Given the description of an element on the screen output the (x, y) to click on. 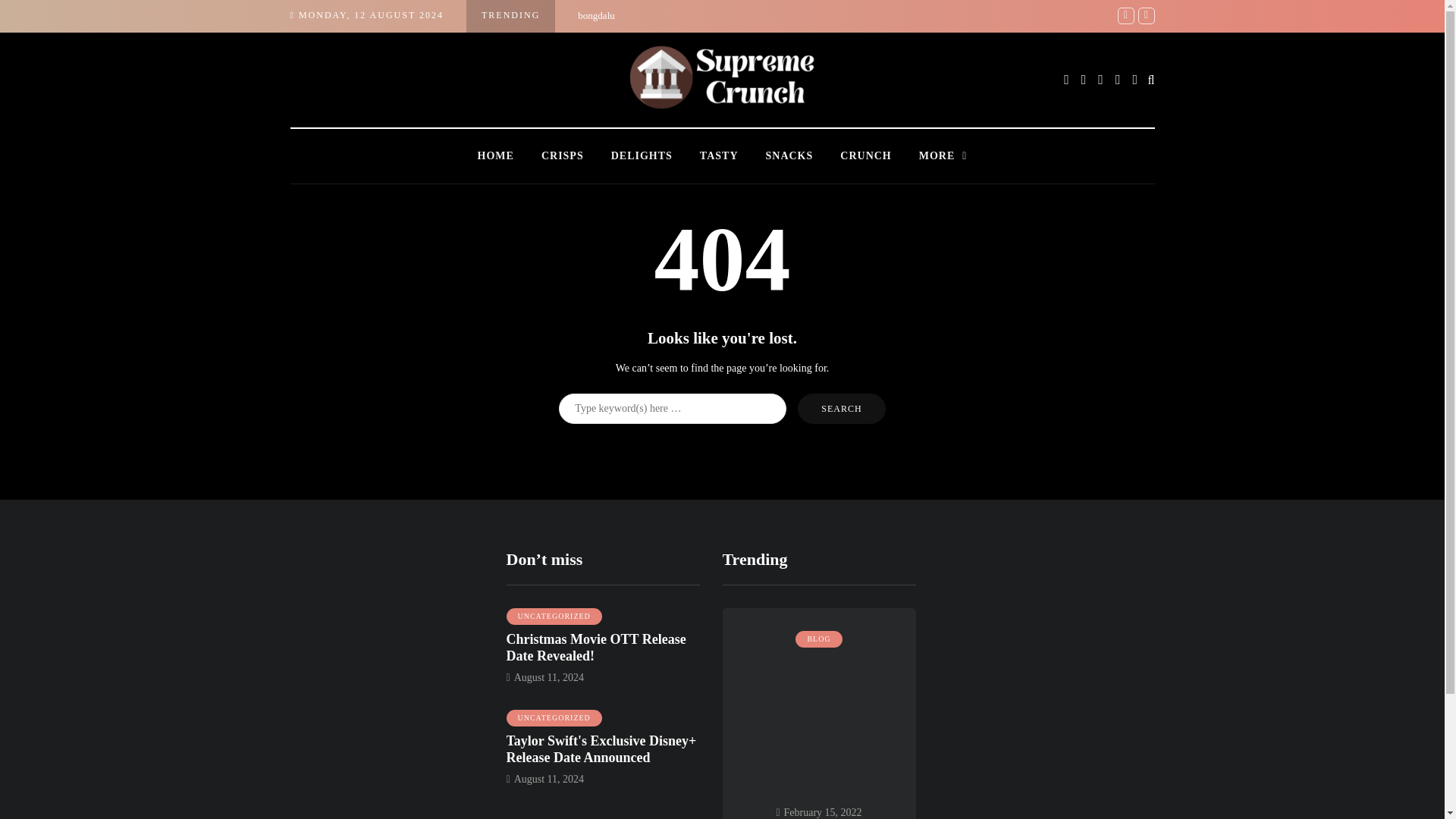
MORE (943, 156)
Search (841, 408)
TASTY (718, 156)
DELIGHTS (640, 156)
is oxygen level of 94 ok (1178, 15)
CRISPS (561, 156)
SNACKS (789, 156)
CRUNCH (865, 156)
bongdalu (596, 15)
HOME (495, 156)
